Given the description of an element on the screen output the (x, y) to click on. 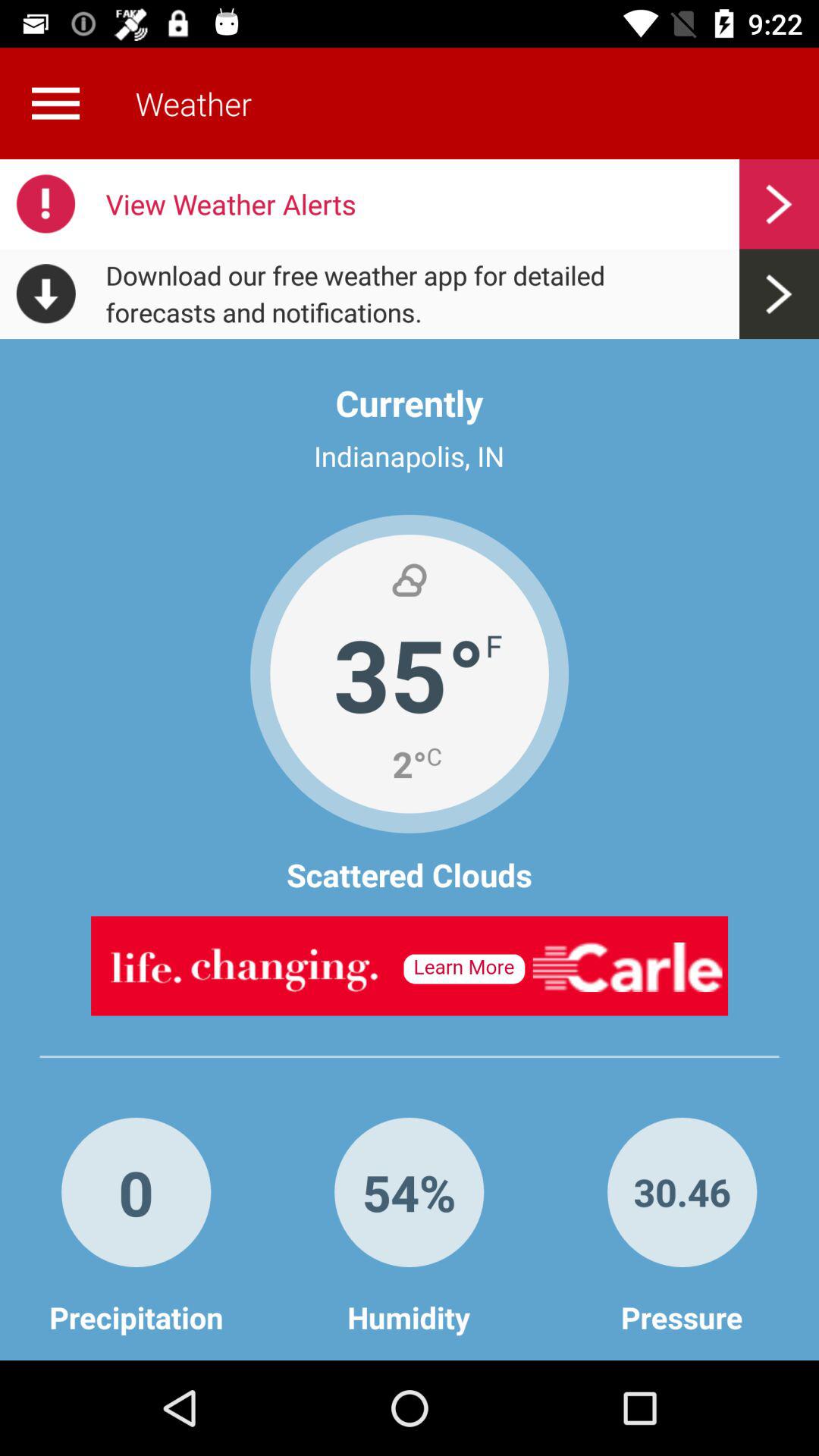
advatisment (409, 965)
